Given the description of an element on the screen output the (x, y) to click on. 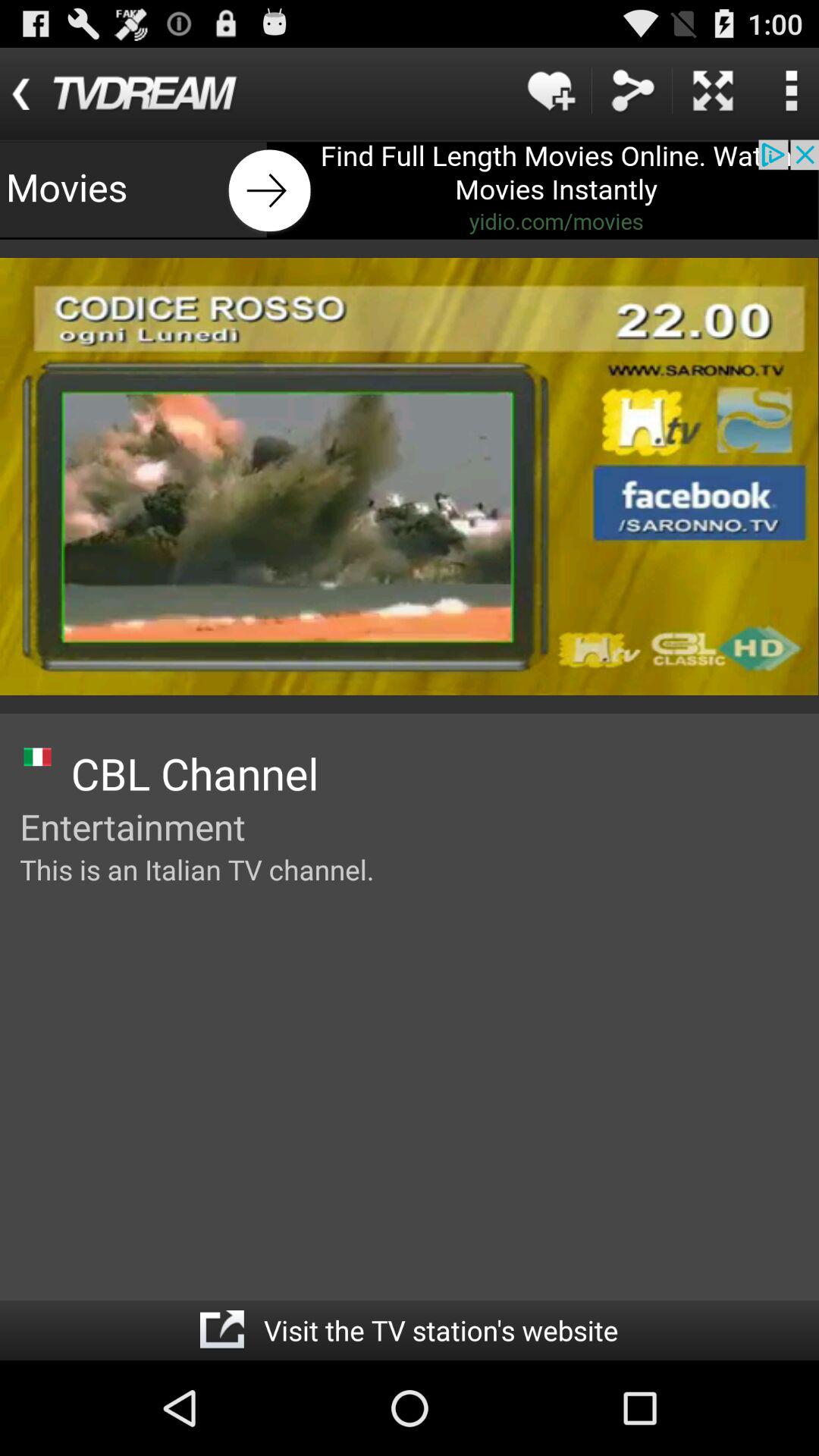
paint bar (409, 189)
